Given the description of an element on the screen output the (x, y) to click on. 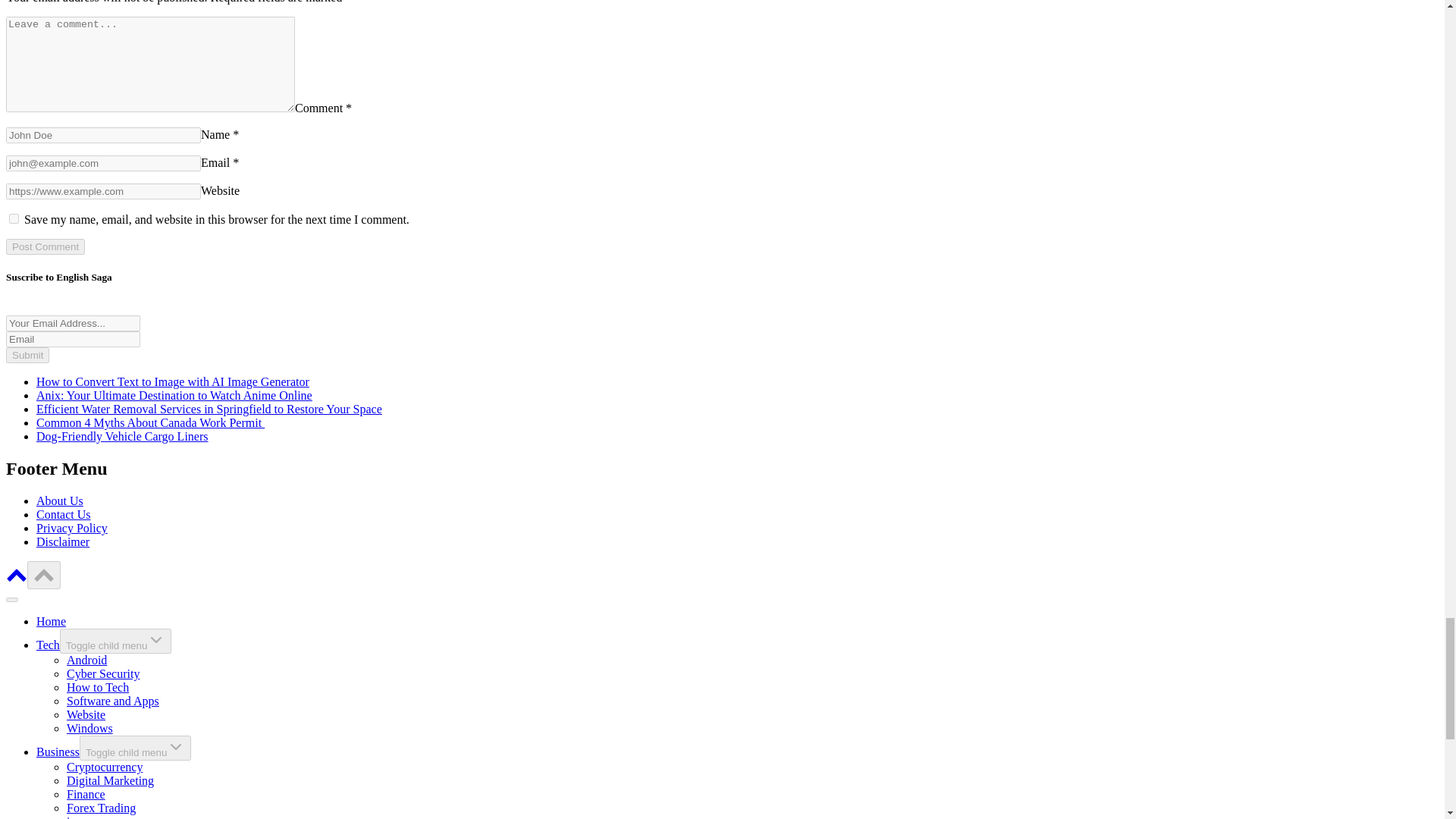
Expand (156, 639)
Scroll to top (44, 573)
Scroll to top (16, 573)
yes (13, 218)
Scroll to top (44, 574)
Post Comment (44, 246)
Scroll to top (16, 580)
